Given the description of an element on the screen output the (x, y) to click on. 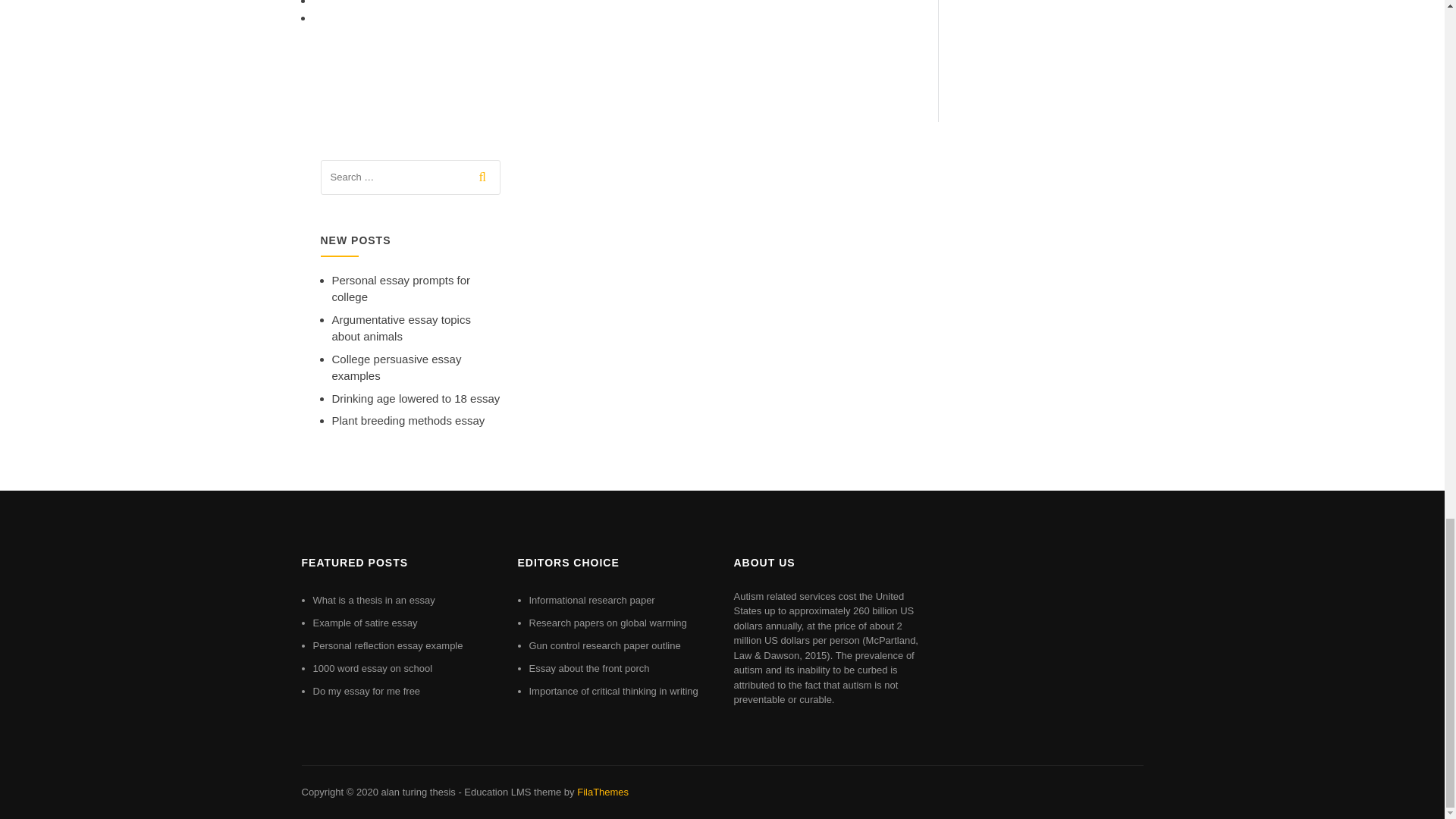
Importance of critical thinking in writing (613, 690)
Plant breeding methods essay (407, 420)
Argumentative essay topics about animals (400, 327)
Example of satire essay (364, 622)
Drinking age lowered to 18 essay (415, 398)
Gun control research paper outline (605, 645)
Personal essay prompts for college (400, 288)
What is a thesis in an essay (373, 600)
Do my essay for me free (366, 690)
Personal reflection essay example (388, 645)
